Given the description of an element on the screen output the (x, y) to click on. 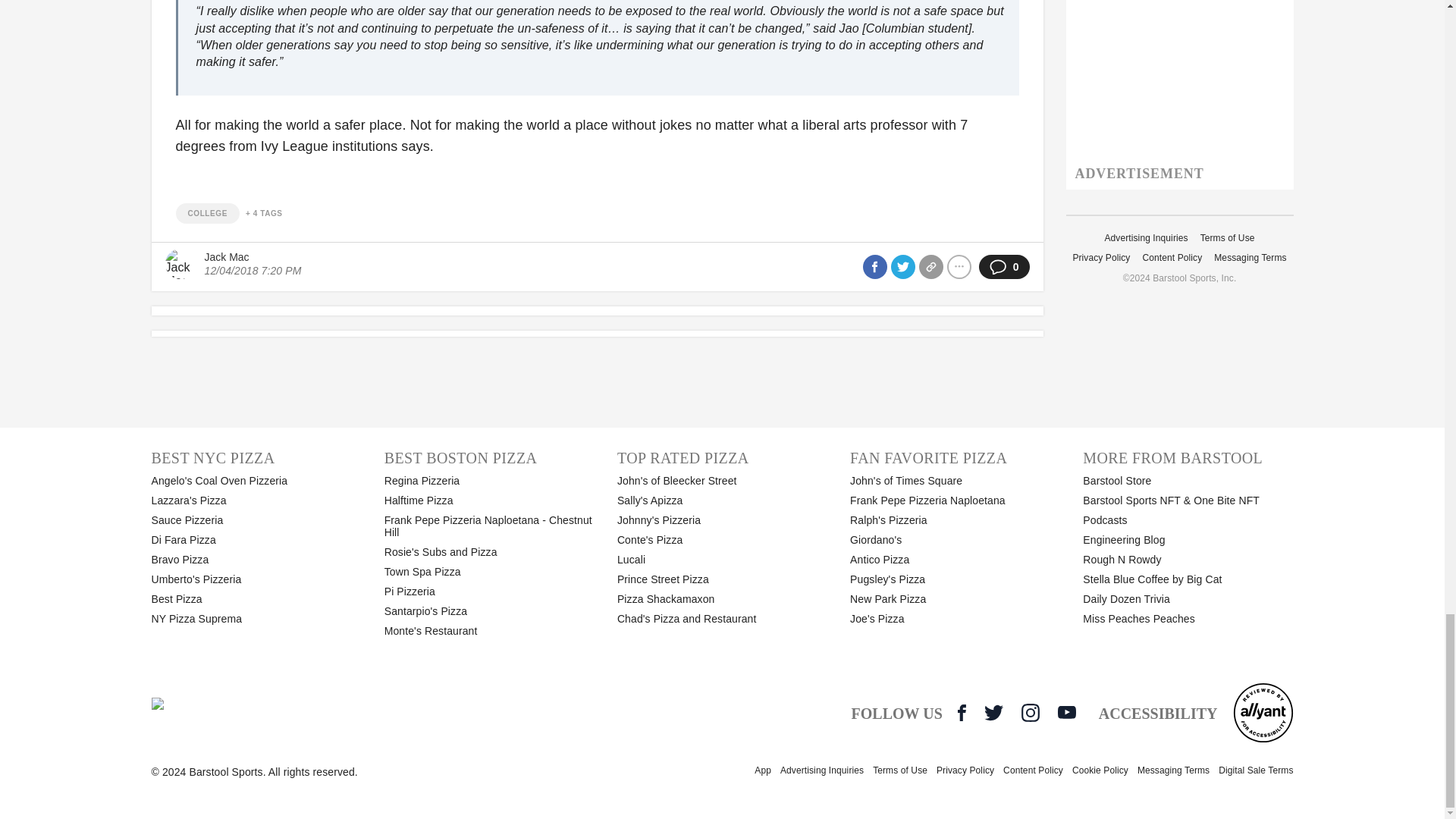
Reviewed by Allyant for accessibility (1263, 712)
YouTube Icon (1066, 711)
Instagram Icon (1030, 712)
Twitter Icon (993, 712)
